Given the description of an element on the screen output the (x, y) to click on. 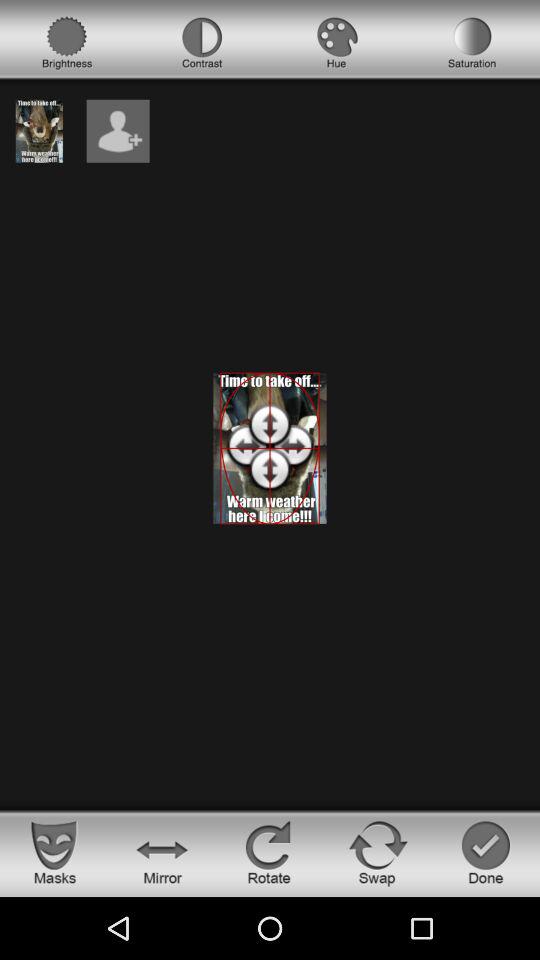
select photo (39, 130)
